Given the description of an element on the screen output the (x, y) to click on. 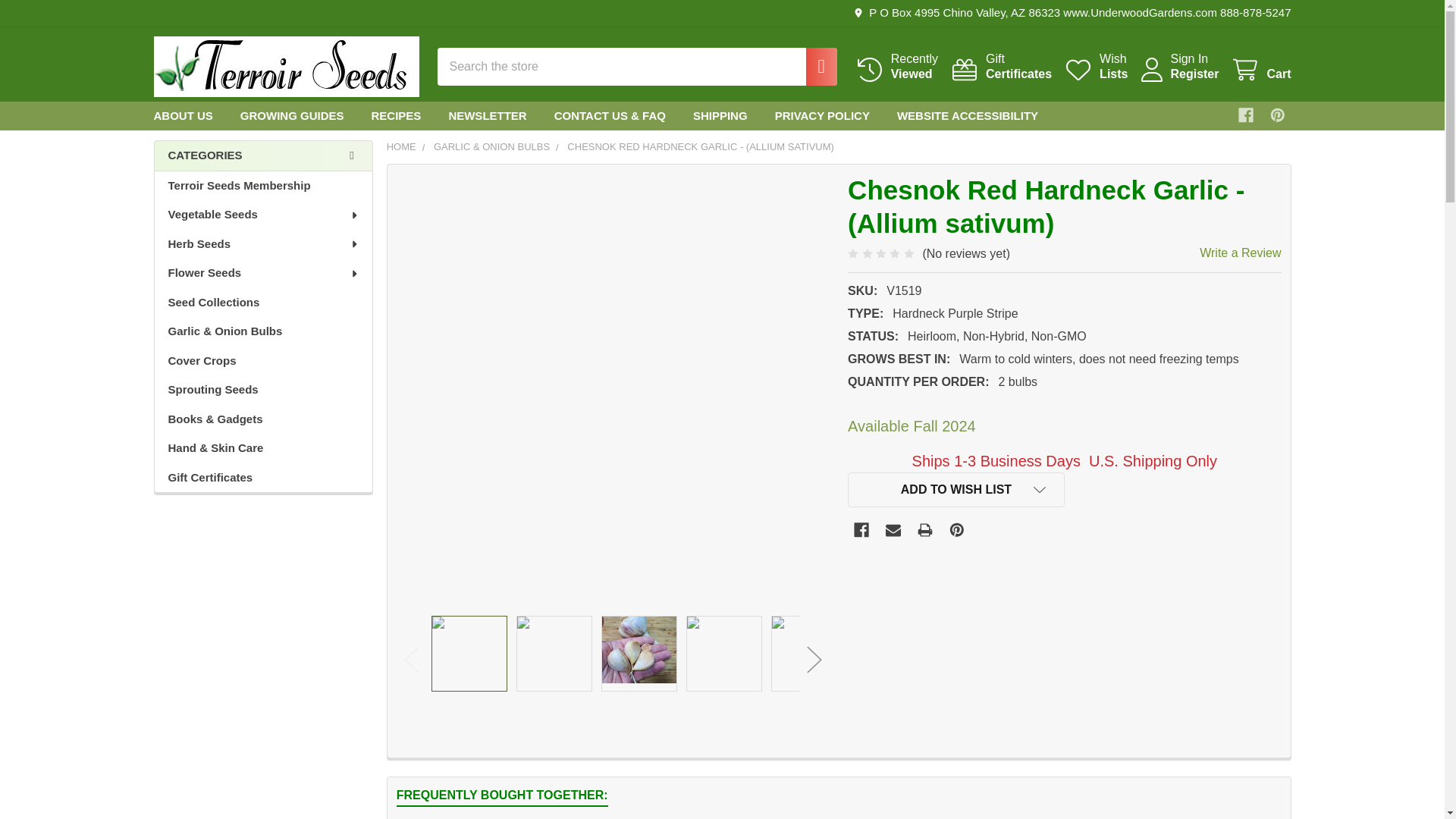
Wish Lists (1000, 66)
Pinterest (1095, 66)
Cart (1095, 66)
Gift Certificates (1276, 114)
Register (1260, 69)
Search (896, 66)
Search (1000, 66)
